Given the description of an element on the screen output the (x, y) to click on. 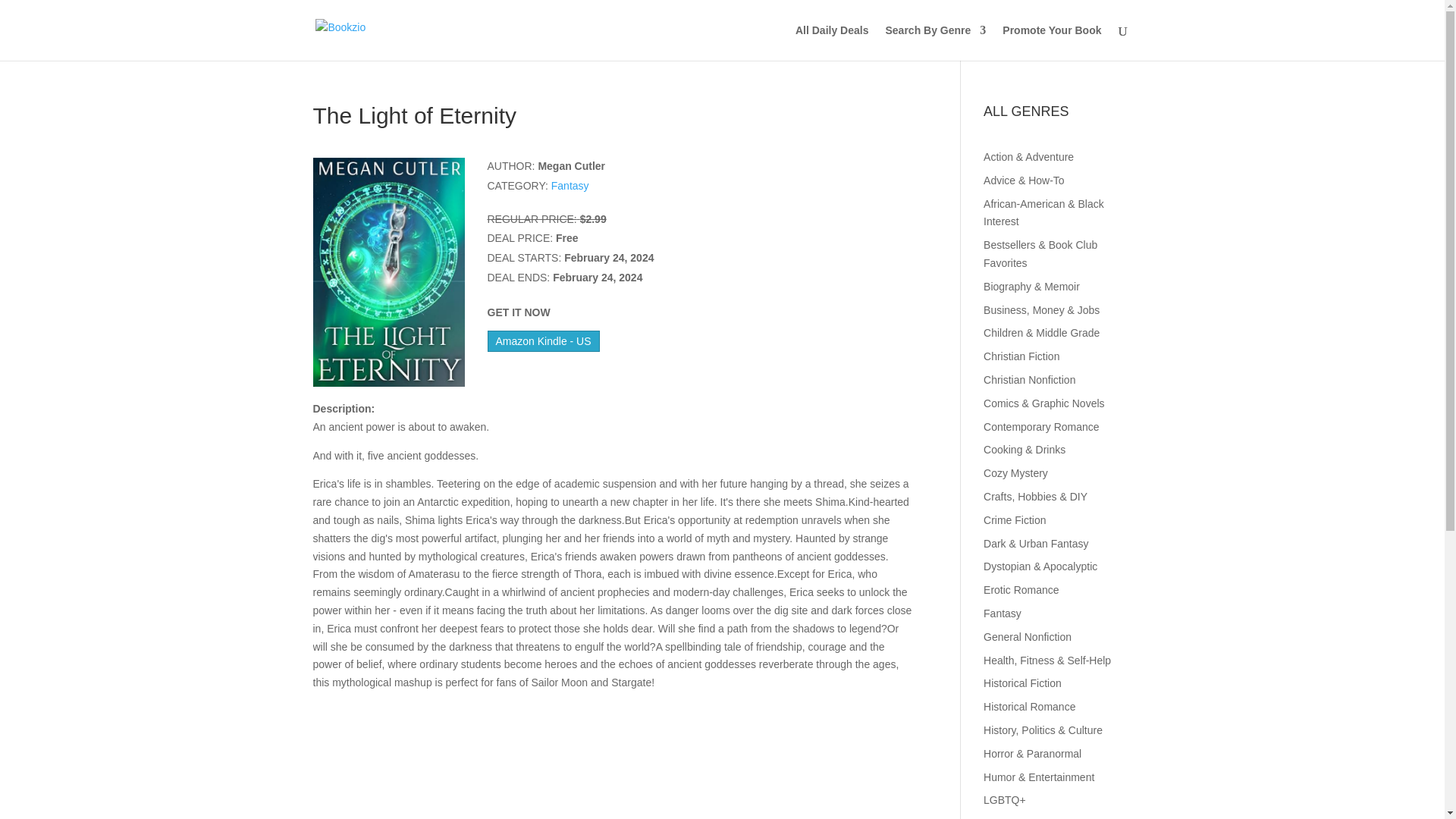
Crime Fiction (1014, 520)
Fantasy (570, 185)
Promote Your Book (1051, 42)
Amazon Kindle - US (542, 341)
Search By Genre (935, 42)
Cozy Mystery (1016, 472)
All Daily Deals (831, 42)
Christian Fiction (1021, 356)
Christian Nonfiction (1029, 379)
Contemporary Romance (1041, 426)
